Given the description of an element on the screen output the (x, y) to click on. 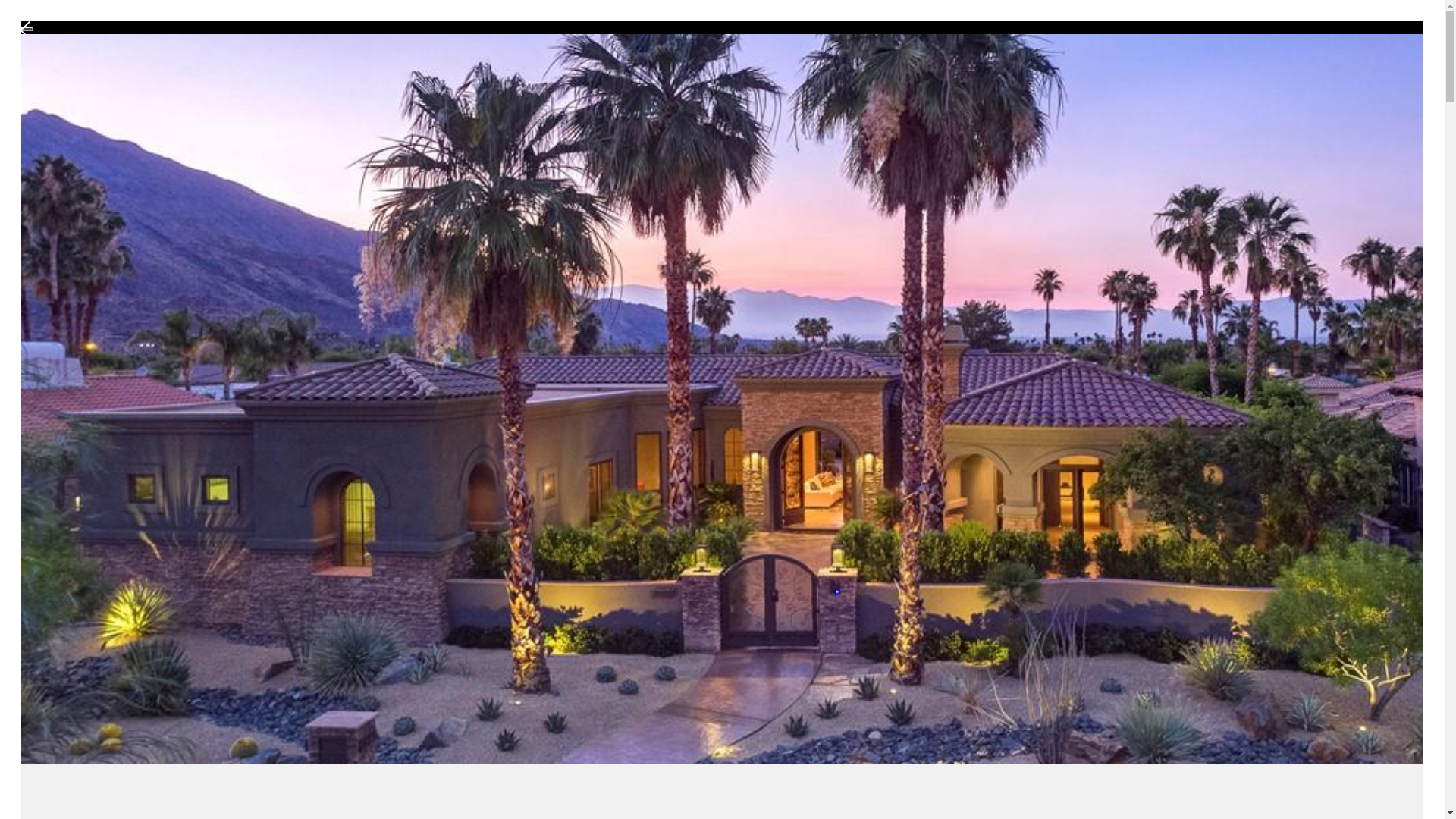
PROPERTIES (984, 67)
See all photos (1353, 701)
760.844.0110 (1299, 67)
CONTACT (1198, 67)
Previous (27, 28)
MLS SEARCH (1097, 67)
